Given the description of an element on the screen output the (x, y) to click on. 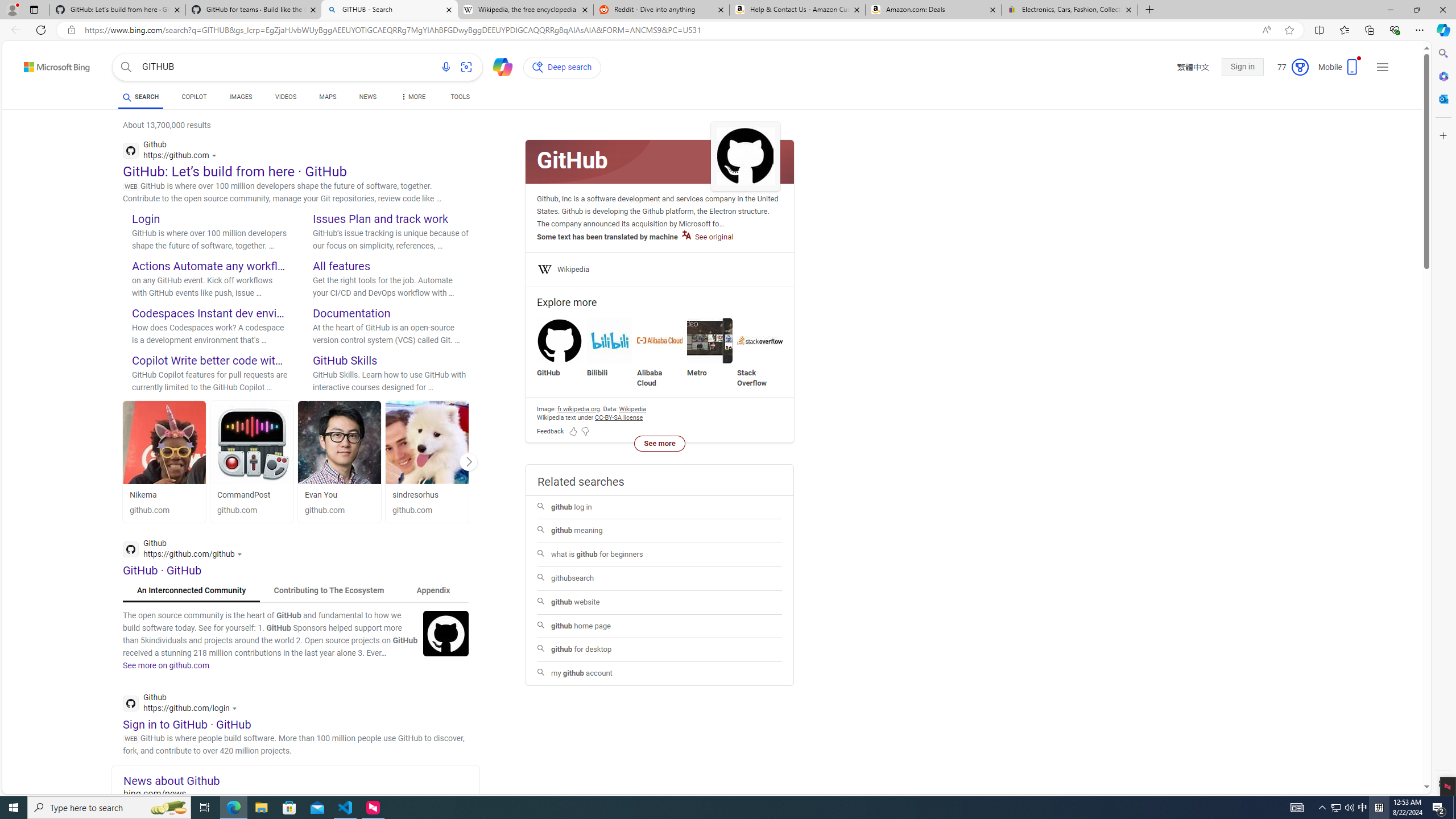
sindresorhus (426, 442)
github log in (659, 507)
Evan You (339, 442)
github meaning (659, 530)
Explore more Stack Overflow (759, 352)
github.com (427, 511)
Contributing to The Ecosystem (328, 590)
